Given the description of an element on the screen output the (x, y) to click on. 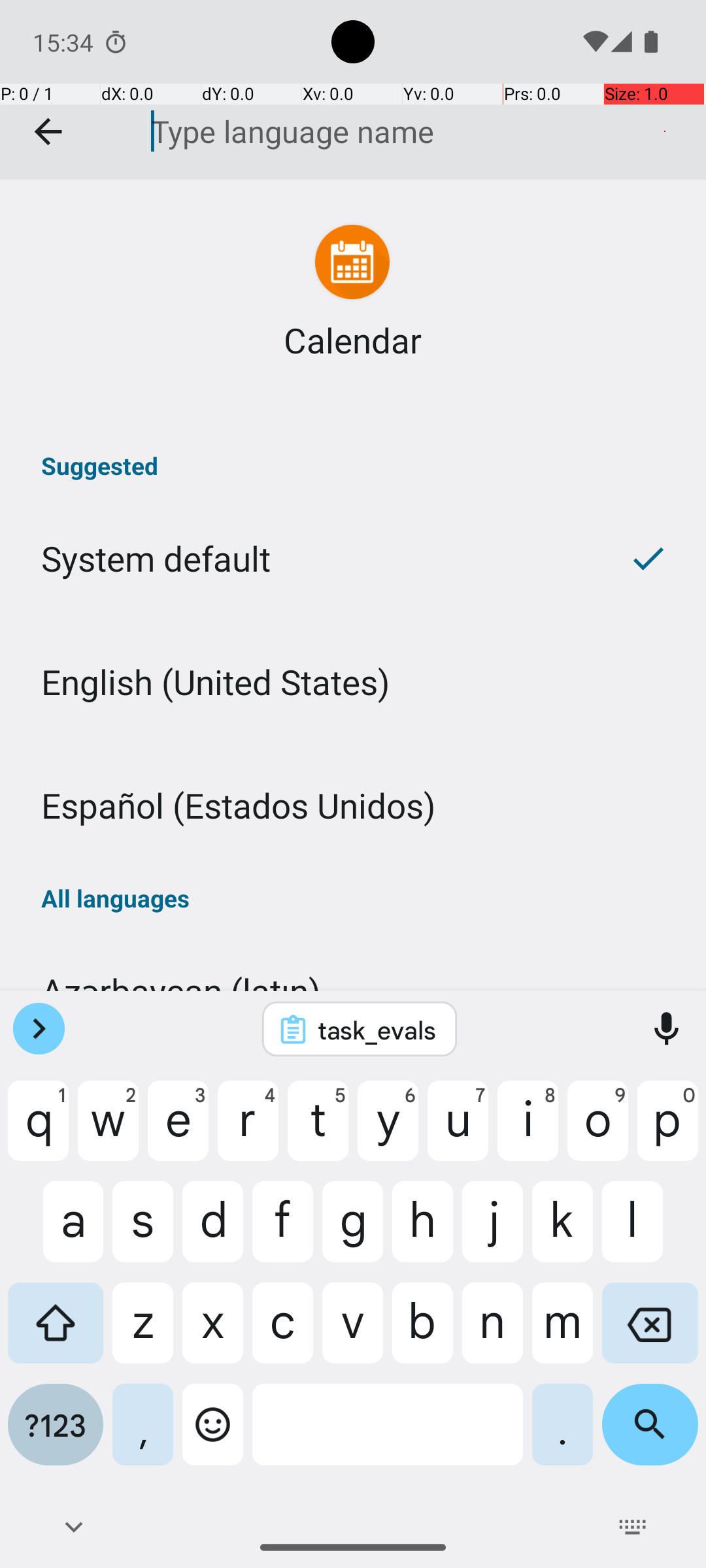
Type language name Element type: android.widget.AutoCompleteTextView (397, 130)
